Given the description of an element on the screen output the (x, y) to click on. 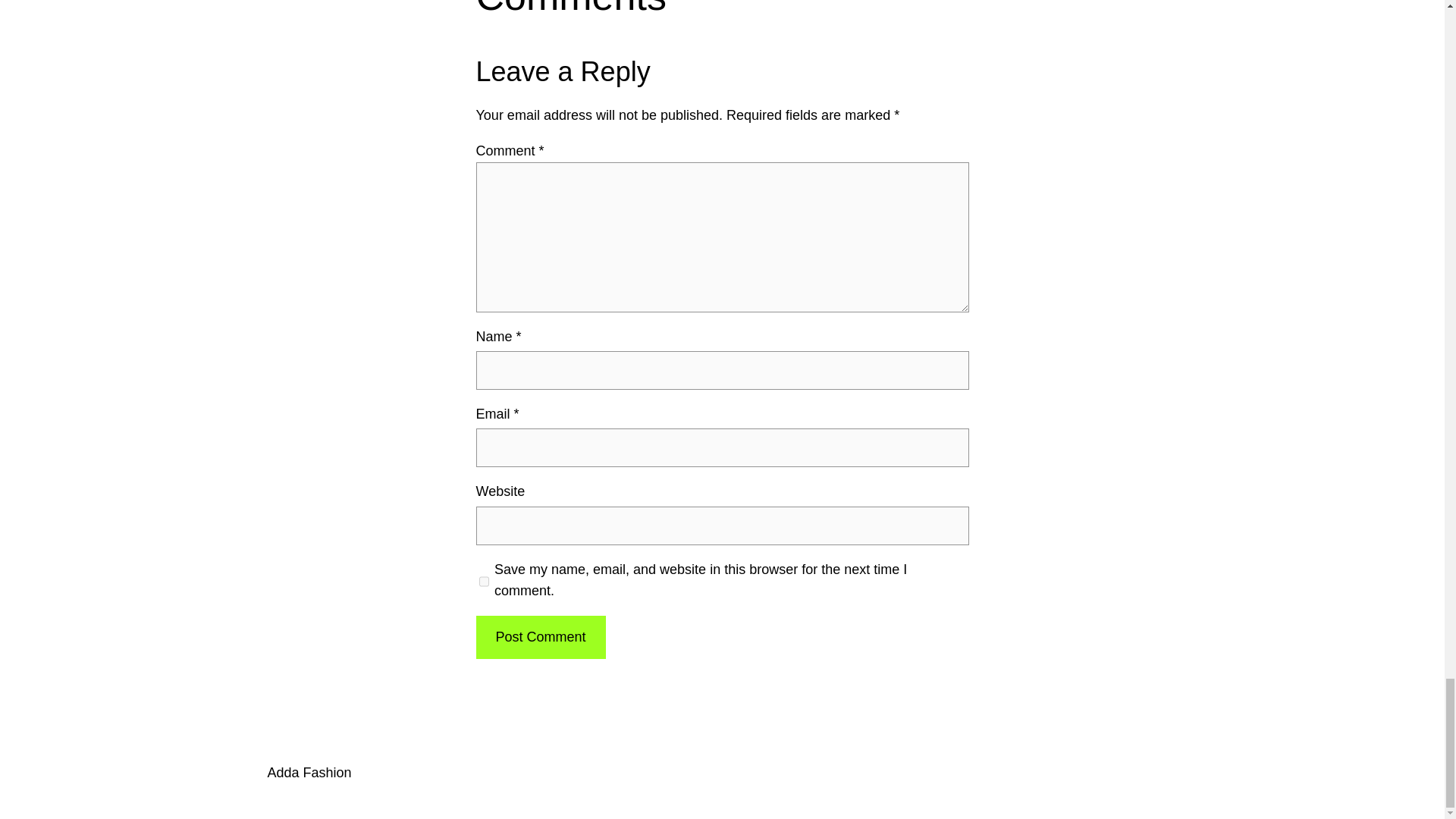
Adda Fashion (308, 772)
Post Comment (540, 637)
Post Comment (540, 637)
